Given the description of an element on the screen output the (x, y) to click on. 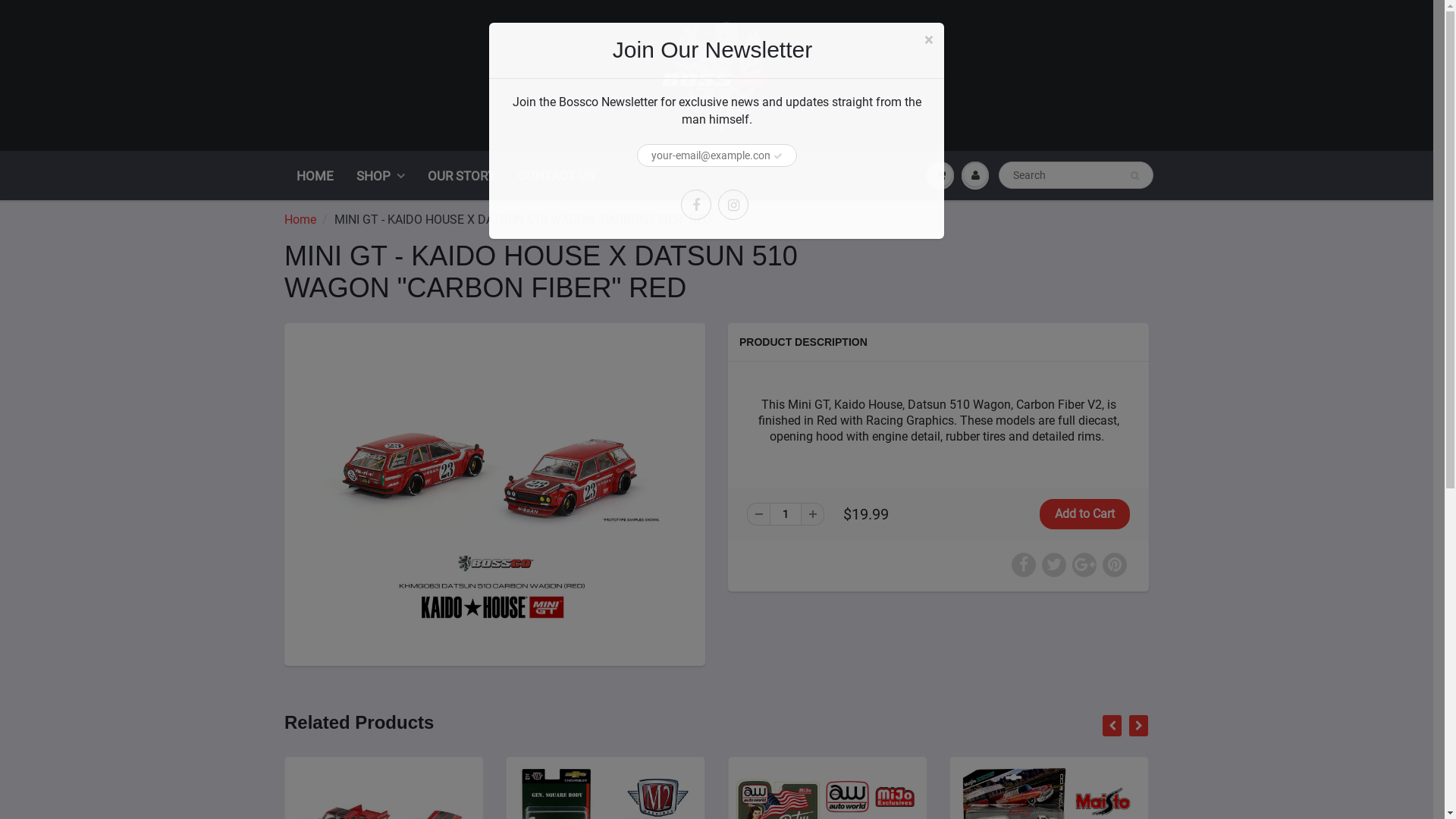
Home Element type: text (300, 219)
MINI GT - KAIDO HOUSE X DATSUN 510 WAGON "CARBON FIBER" RED Element type: hover (494, 492)
OUR STORY Element type: text (461, 175)
Search Element type: text (1134, 175)
Add to Cart Element type: text (1084, 513)
Facebook Element type: hover (695, 204)
HOME Element type: text (315, 175)
Subscribe Element type: text (776, 156)
CONTACT US Element type: text (555, 175)
Instagram Element type: hover (733, 204)
SHOP Element type: text (380, 175)
